Given the description of an element on the screen output the (x, y) to click on. 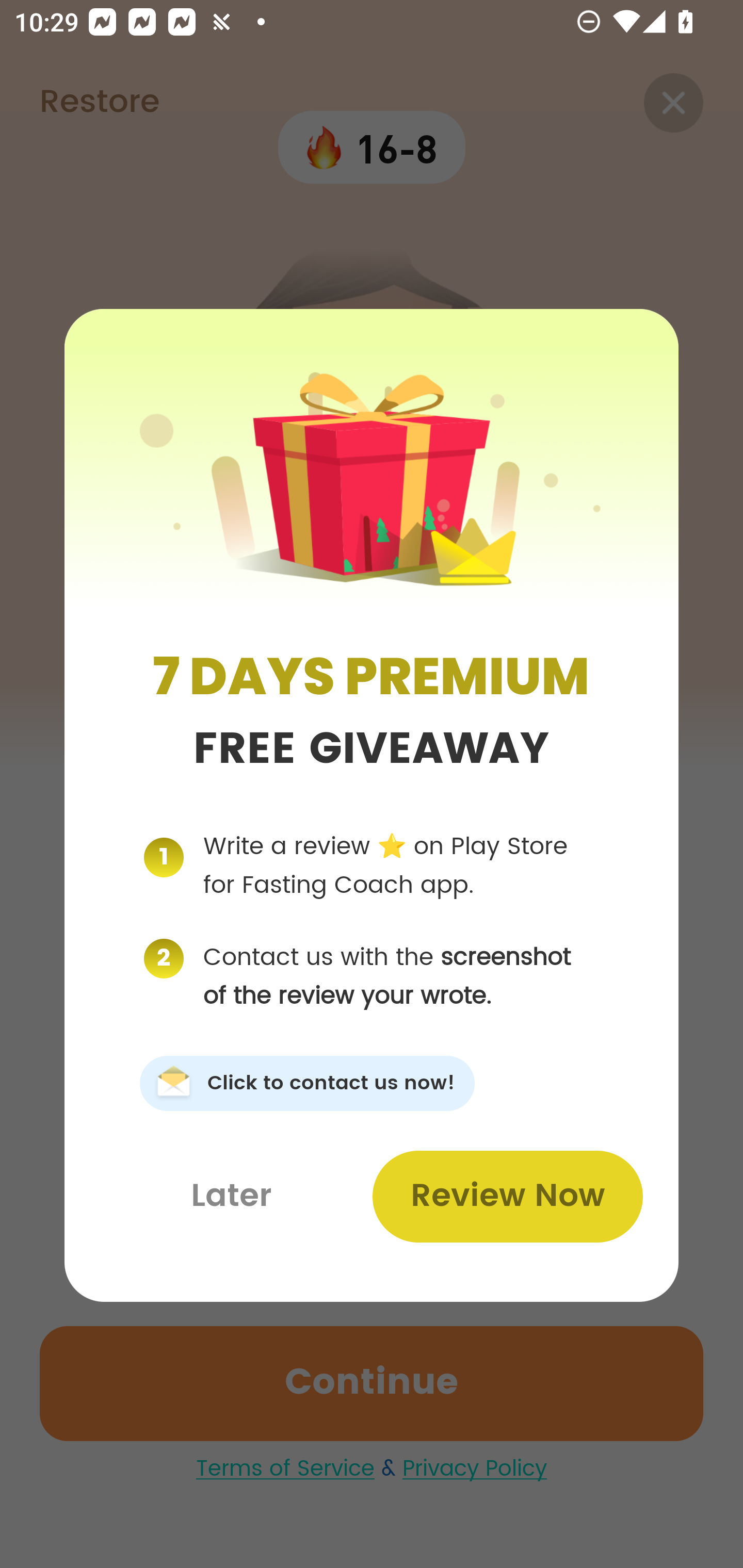
Click to contact us now! (306, 1083)
Later (231, 1195)
Review Now (507, 1195)
